Given the description of an element on the screen output the (x, y) to click on. 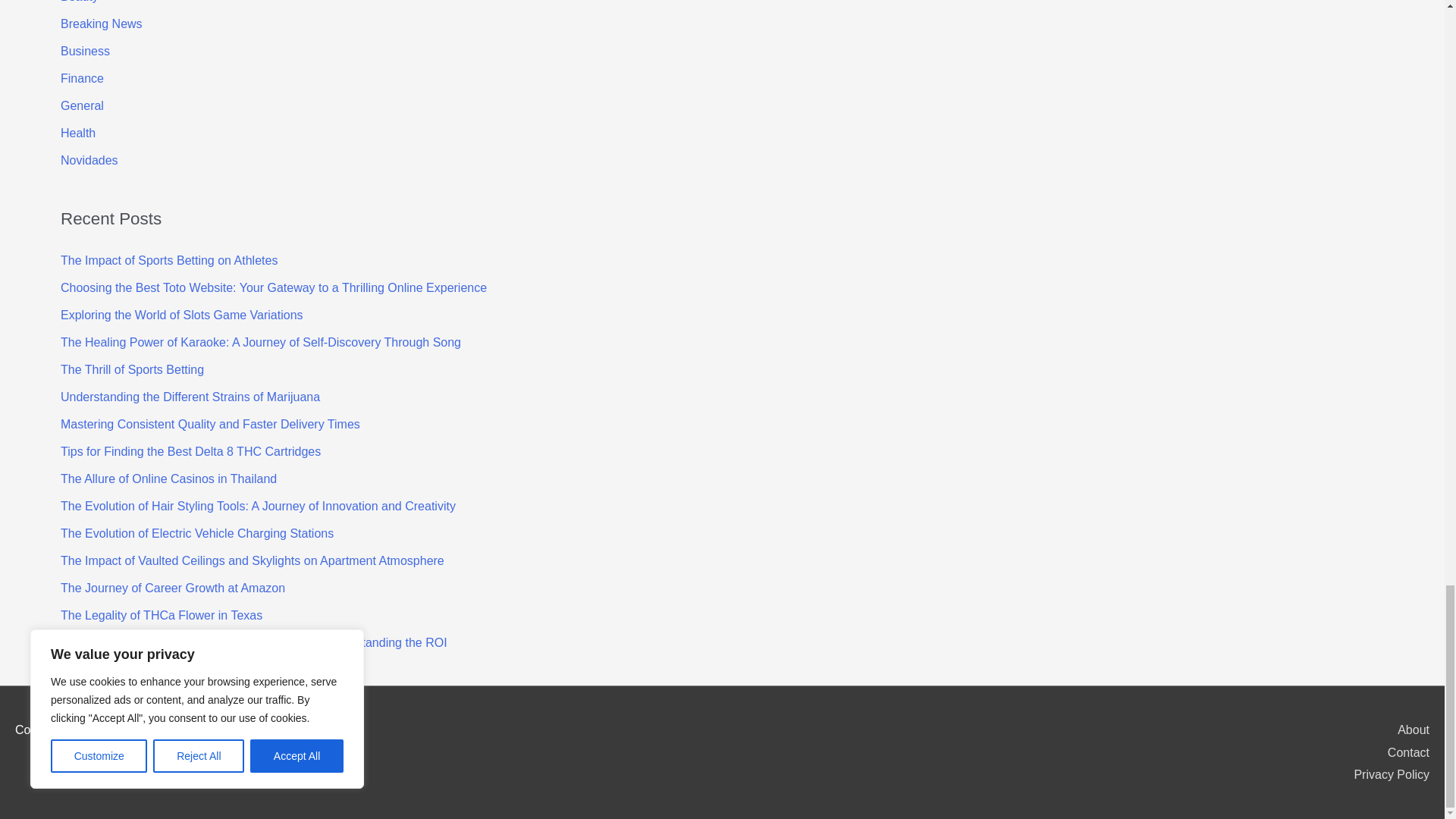
The Impact of Sports Betting on Athletes (169, 259)
Finance (82, 77)
Novidades (89, 159)
Beauty (80, 1)
Breaking News (101, 22)
General (82, 104)
Business (85, 50)
Health (78, 132)
